Given the description of an element on the screen output the (x, y) to click on. 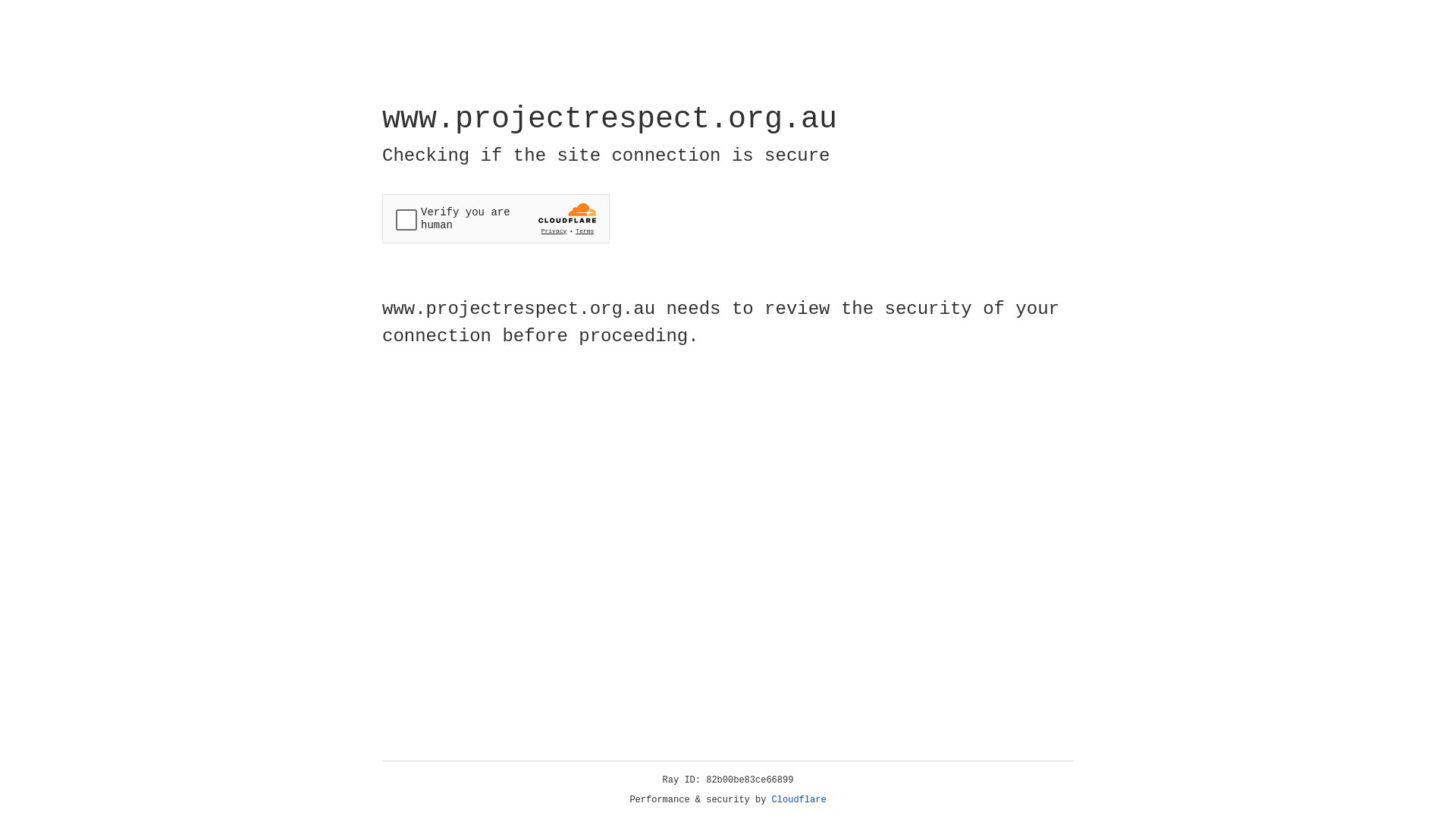
Widget containing a Cloudflare security challenge Element type: hover (495, 218)
Cloudflare Element type: text (798, 799)
